Given the description of an element on the screen output the (x, y) to click on. 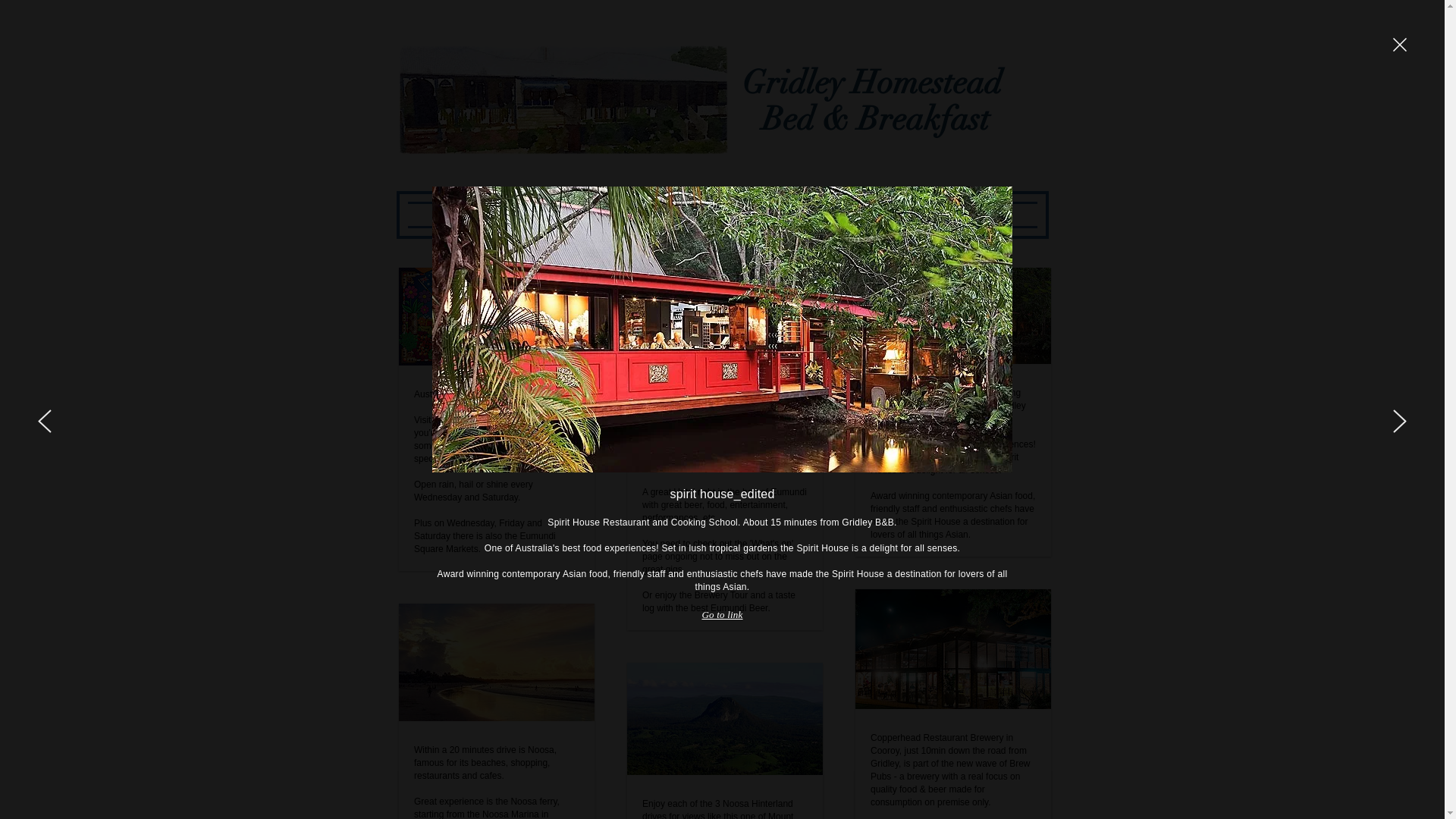
Home Element type: text (470, 214)
Go to link Element type: text (722, 614)
The Homestead Element type: text (596, 214)
Location Element type: text (722, 214)
Bookings Element type: text (848, 214)
IMG_0679 (1)_edited.jpg Element type: hover (562, 99)
